Given the description of an element on the screen output the (x, y) to click on. 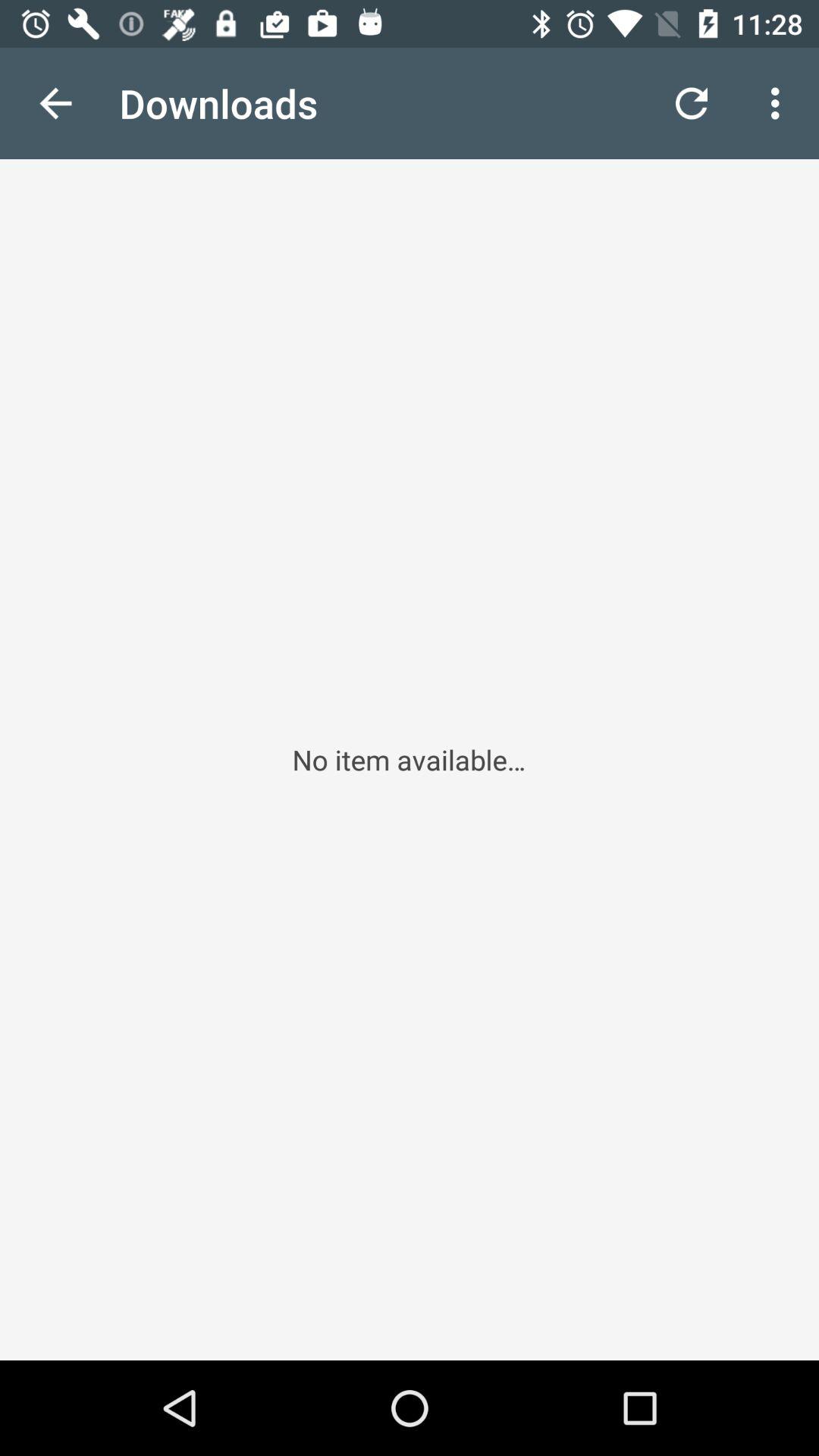
tap the app next to the downloads (691, 103)
